Given the description of an element on the screen output the (x, y) to click on. 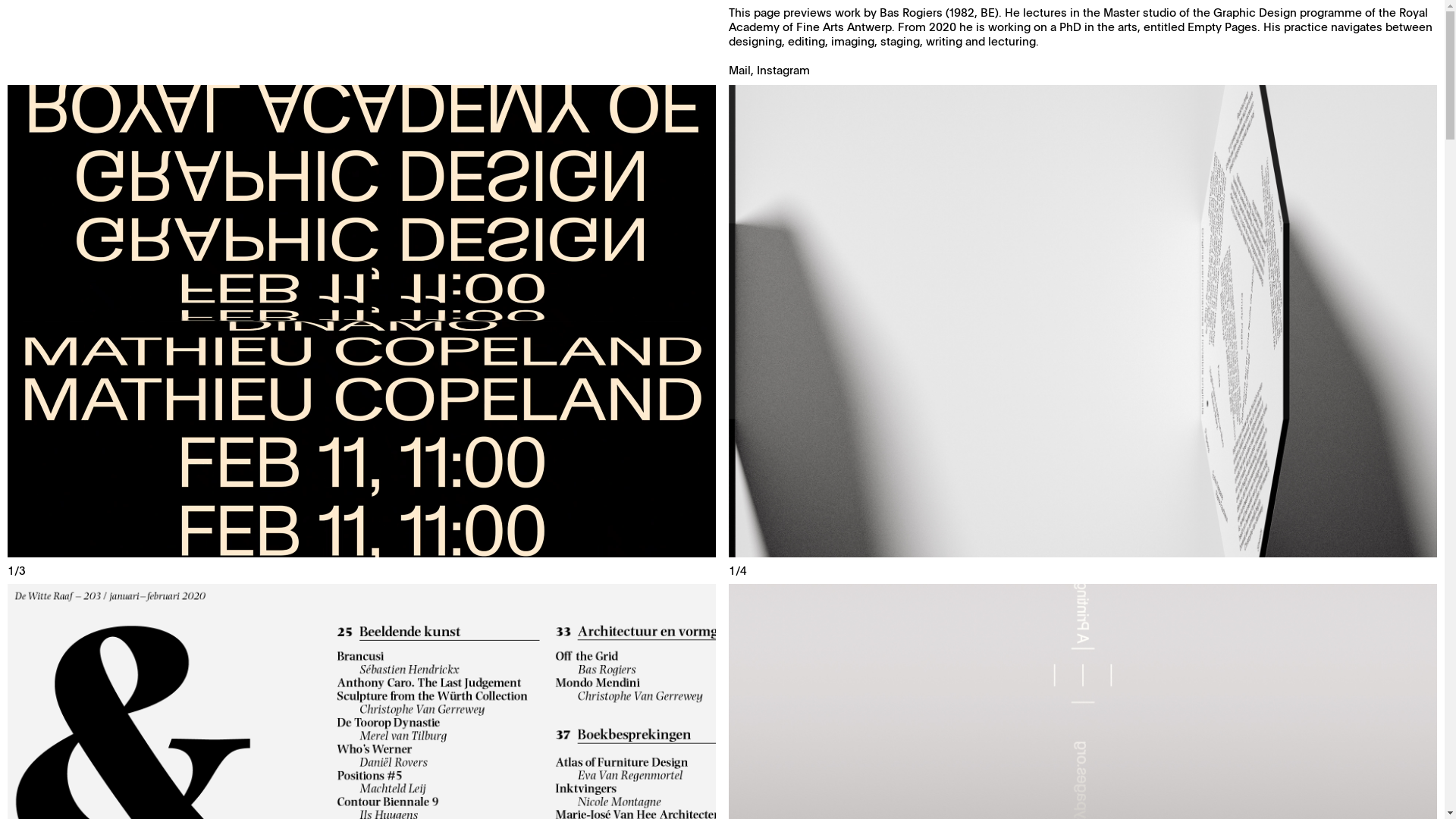
Graphic Design Element type: text (1254, 11)
Mail Element type: text (739, 69)
Bas Rogiers Element type: text (910, 11)
Instagram Element type: text (782, 69)
